Given the description of an element on the screen output the (x, y) to click on. 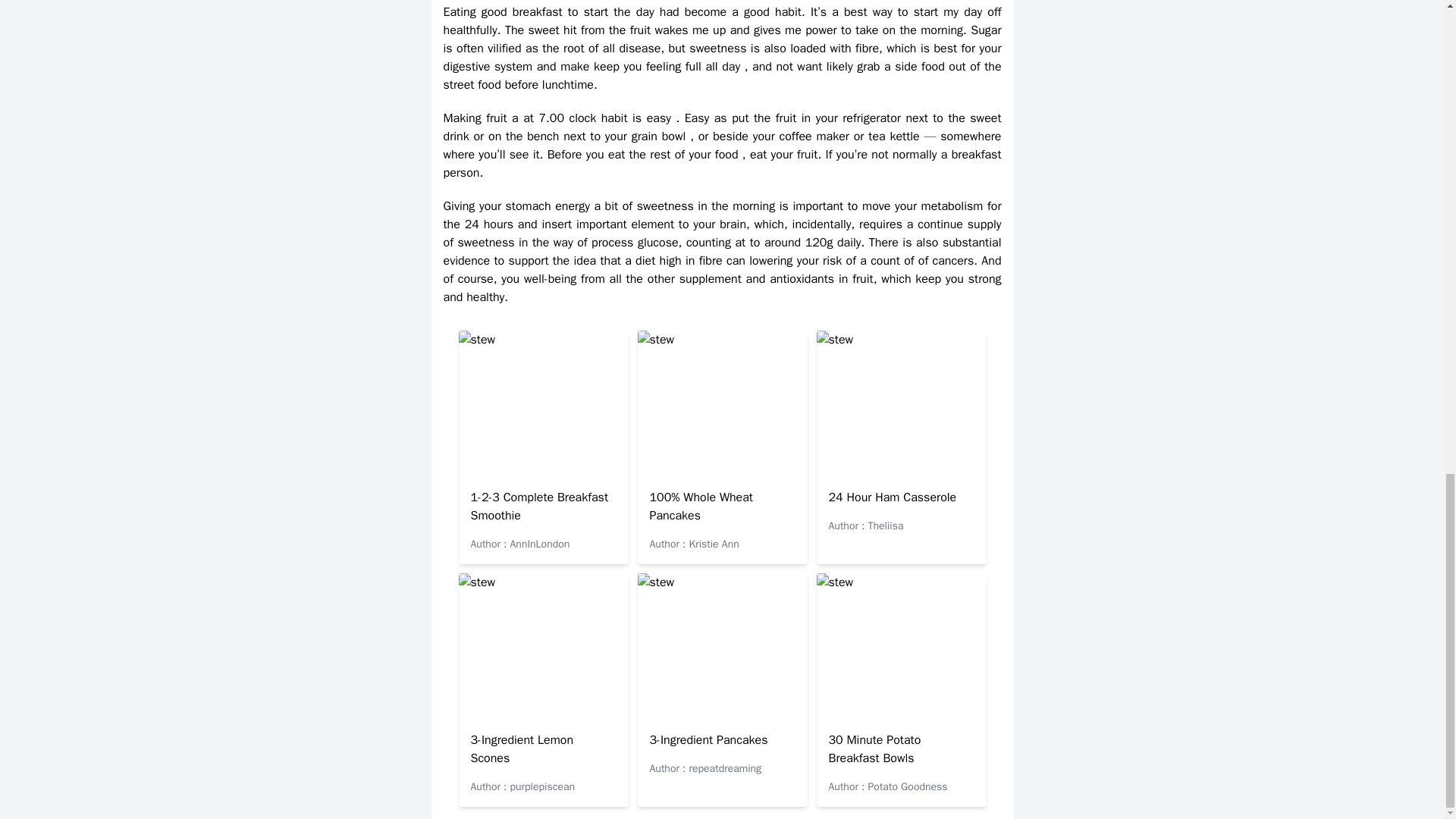
1-2-3 Complete Breakfast Smoothie (539, 506)
24 Hour Ham Casserole (892, 497)
30 Minute Potato Breakfast Bowls (874, 748)
3-Ingredient Pancakes (708, 739)
3-Ingredient Lemon Scones (521, 748)
